Given the description of an element on the screen output the (x, y) to click on. 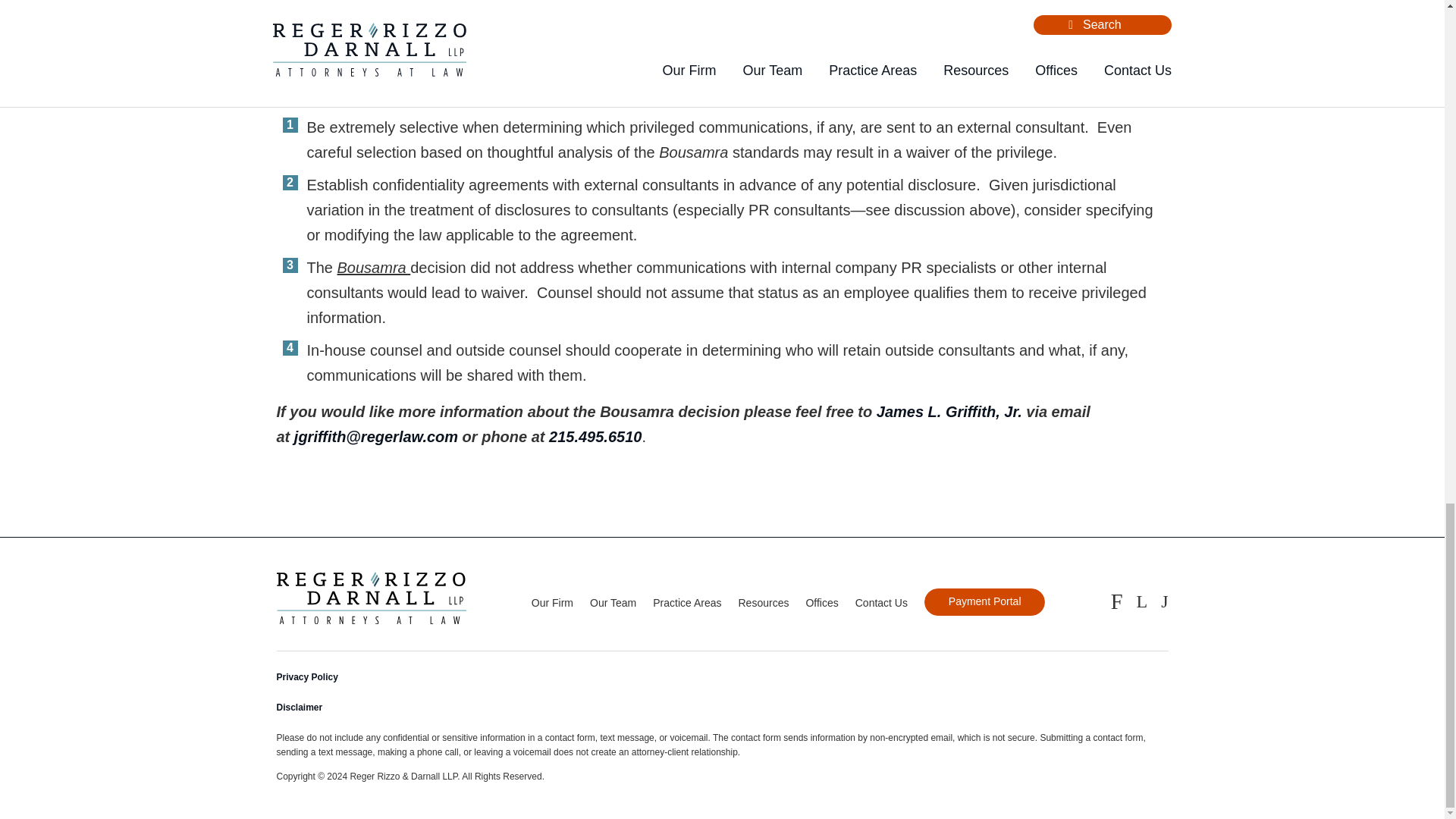
215.495.6510 (595, 436)
Our Firm (552, 603)
Our Team (612, 603)
James L. Griffith, Jr. (949, 411)
